Given the description of an element on the screen output the (x, y) to click on. 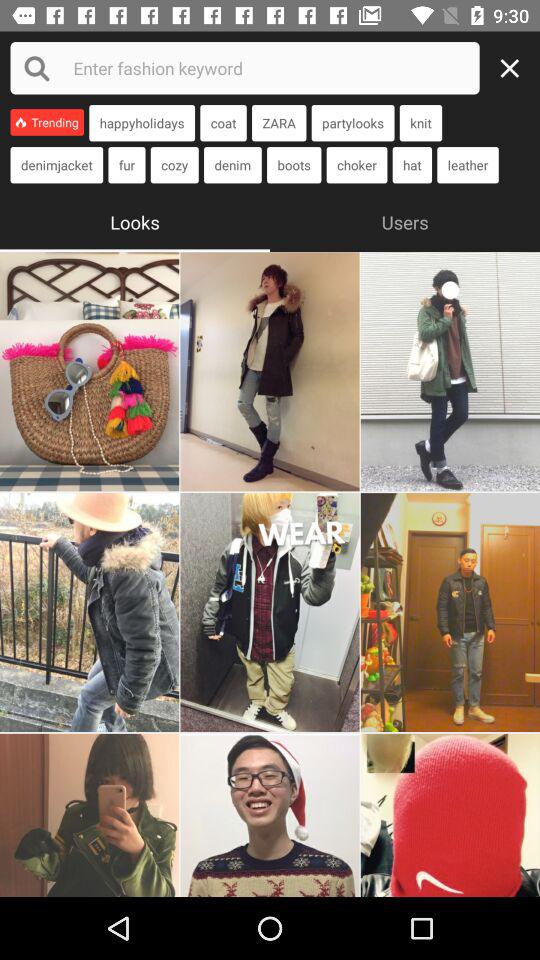
select the look or fashion trend (269, 815)
